Given the description of an element on the screen output the (x, y) to click on. 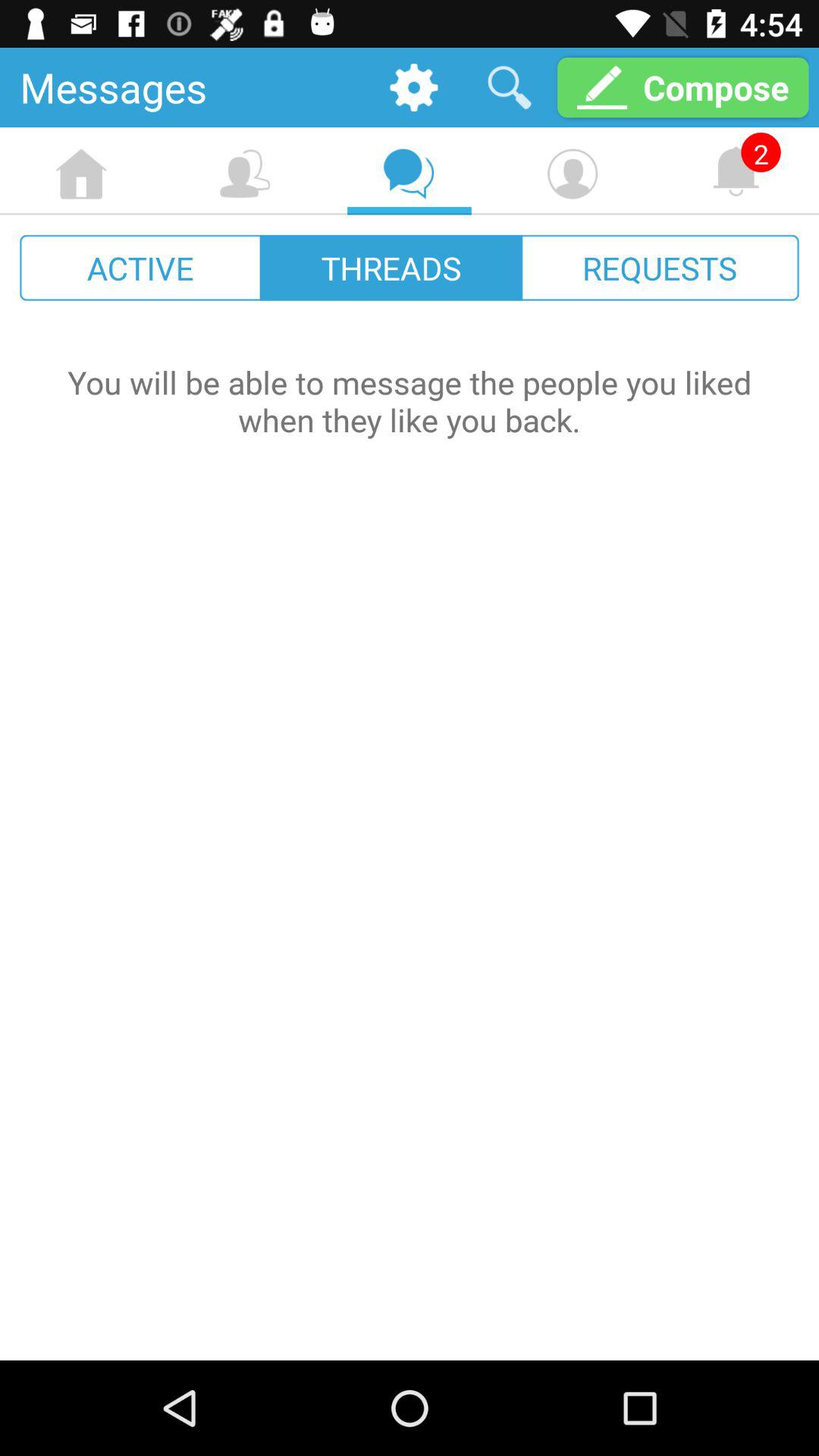
press icon next to the requests (390, 267)
